Given the description of an element on the screen output the (x, y) to click on. 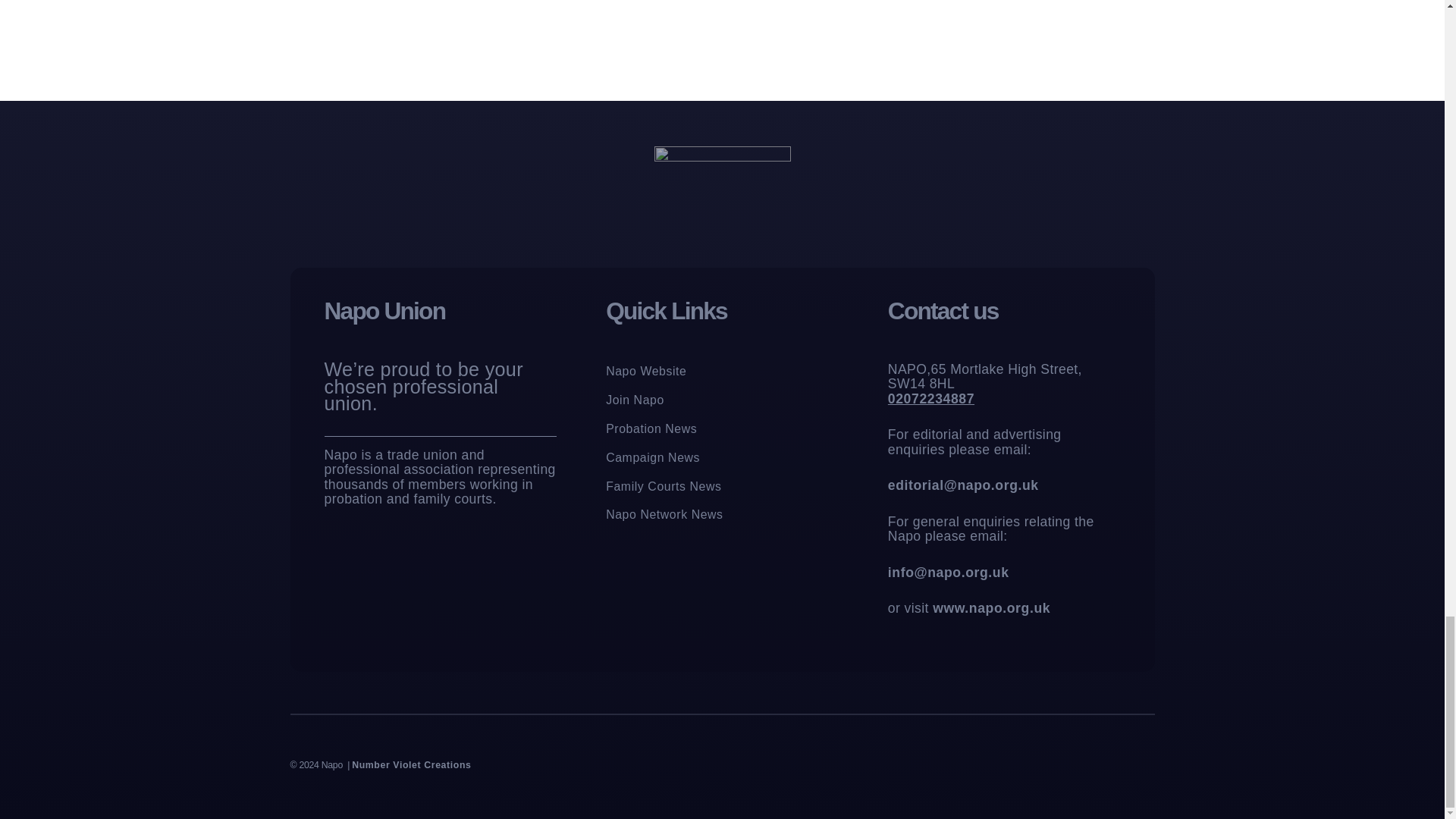
Probation News (651, 428)
Page 1 (1004, 488)
Join Napo (634, 399)
Page 1 (379, 764)
Page 1 (440, 476)
Page 1 (440, 386)
Napo Website (645, 371)
Campaign News (652, 458)
